Given the description of an element on the screen output the (x, y) to click on. 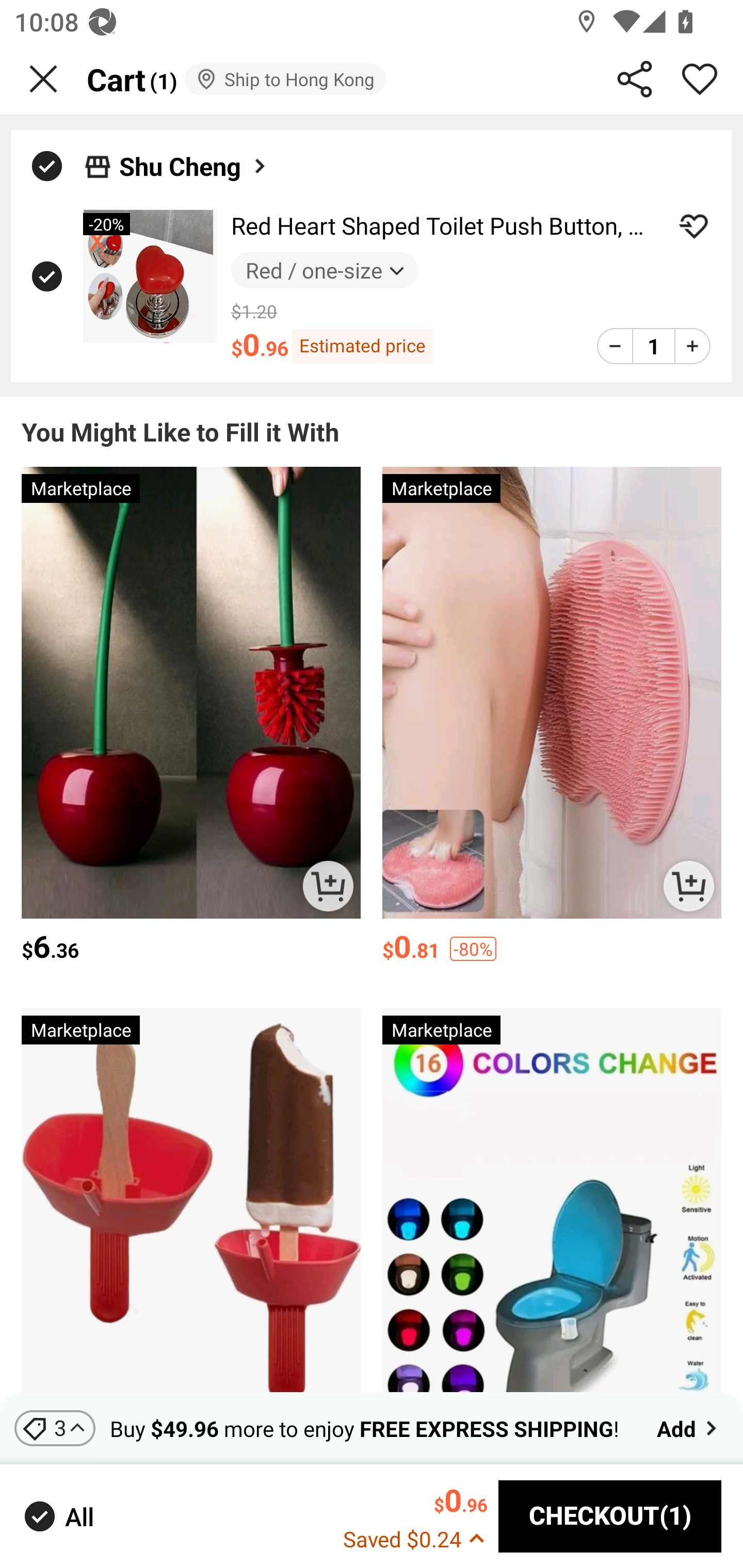
BACK (43, 78)
Wishlist (699, 78)
Share (634, 79)
Ship to Hong Kong (285, 78)
Shu Cheng (193, 165)
ADD TO WISHLIST (693, 226)
Red / one-size (324, 270)
product quantity minus 1 (614, 345)
1 edit product quantity (653, 345)
product quantity add 1 (692, 345)
ADD TO CART (327, 885)
ADD TO CART (688, 885)
3 (54, 1428)
Add (688, 1428)
CHECKOUT(1) (609, 1516)
All (57, 1517)
